Given the description of an element on the screen output the (x, y) to click on. 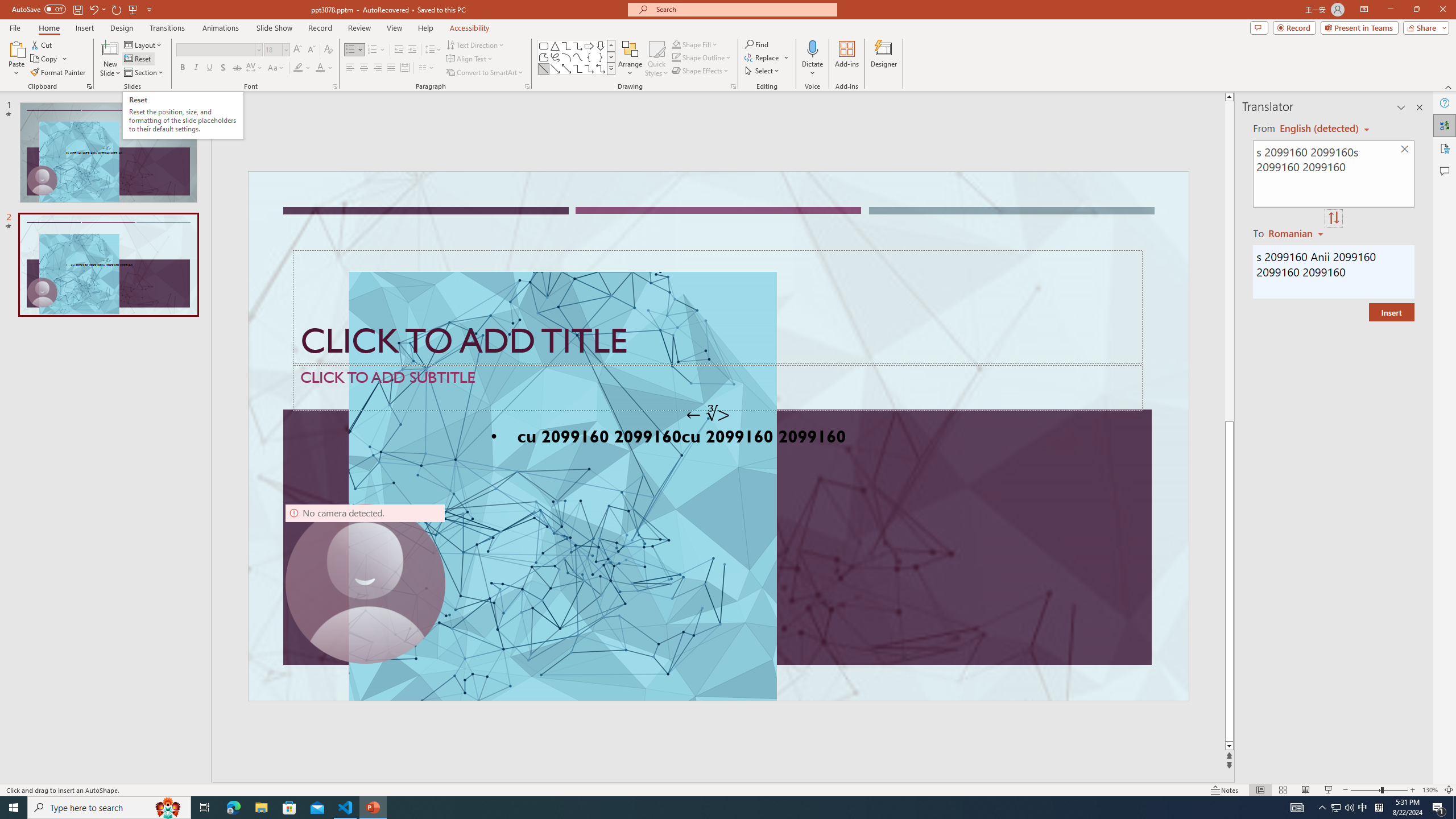
Shape Effects (700, 69)
Bullets (354, 49)
Microsoft search (742, 9)
Increase Indent (412, 49)
Reset (138, 58)
Clear text (1404, 149)
Shapes (611, 68)
Subtitle TextBox (717, 386)
